Given the description of an element on the screen output the (x, y) to click on. 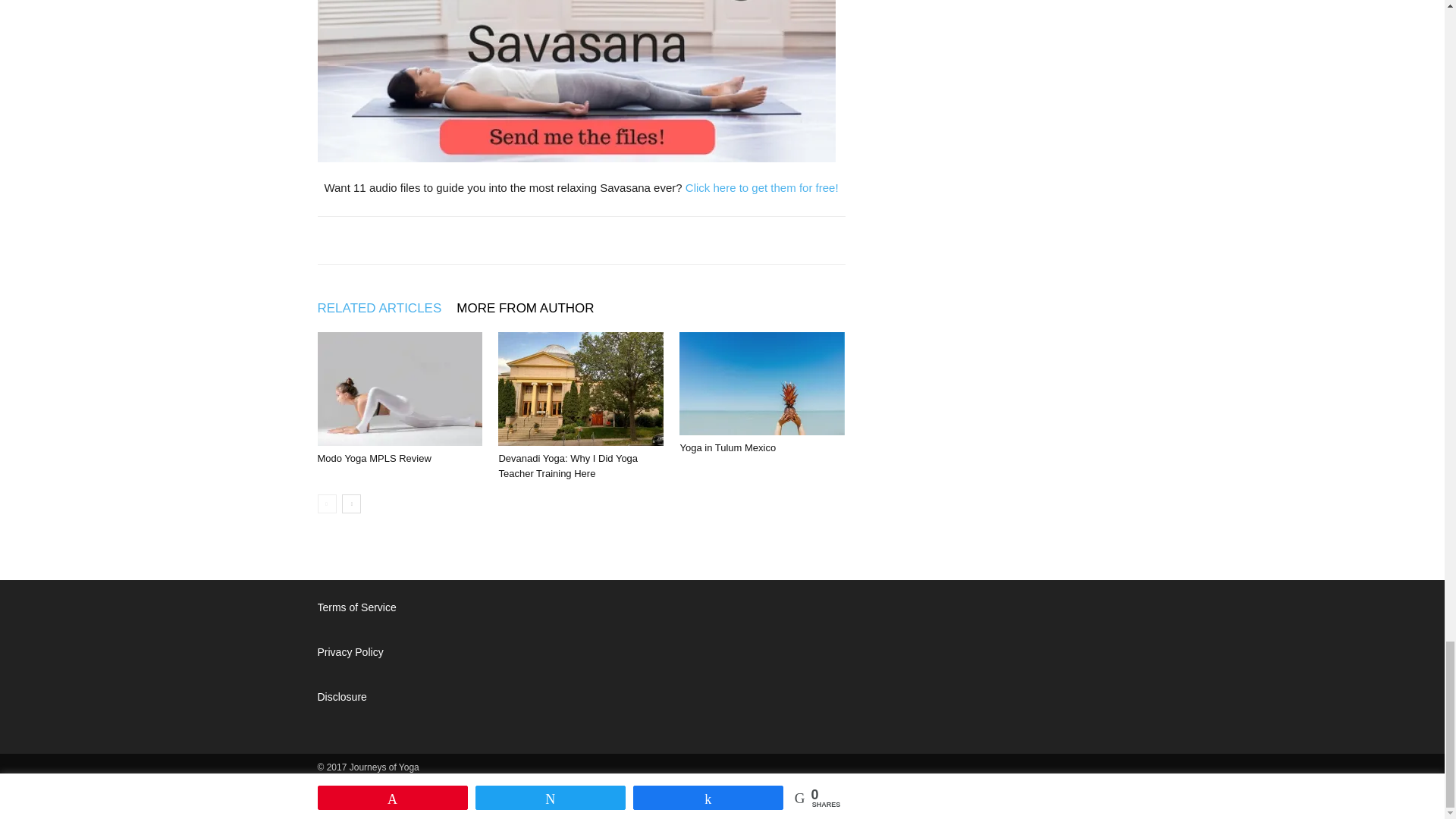
Yoga in Tulum Mexico (761, 383)
Devanadi Yoga: Why I Did Yoga Teacher Training Here (567, 465)
Yoga in Tulum Mexico (727, 446)
Example Image Link (575, 81)
RELATED ARTICLES (387, 308)
Devanadi Yoga: Why I Did Yoga Teacher Training Here (580, 388)
Devanadi Yoga: Why I Did Yoga Teacher Training Here (567, 465)
Modo Yoga MPLS Review (373, 457)
Click here to get them for free! (761, 187)
Modo Yoga MPLS Review (373, 457)
MORE FROM AUTHOR (532, 308)
Yoga in Tulum Mexico (727, 446)
Modo Yoga MPLS Review (399, 388)
